Given the description of an element on the screen output the (x, y) to click on. 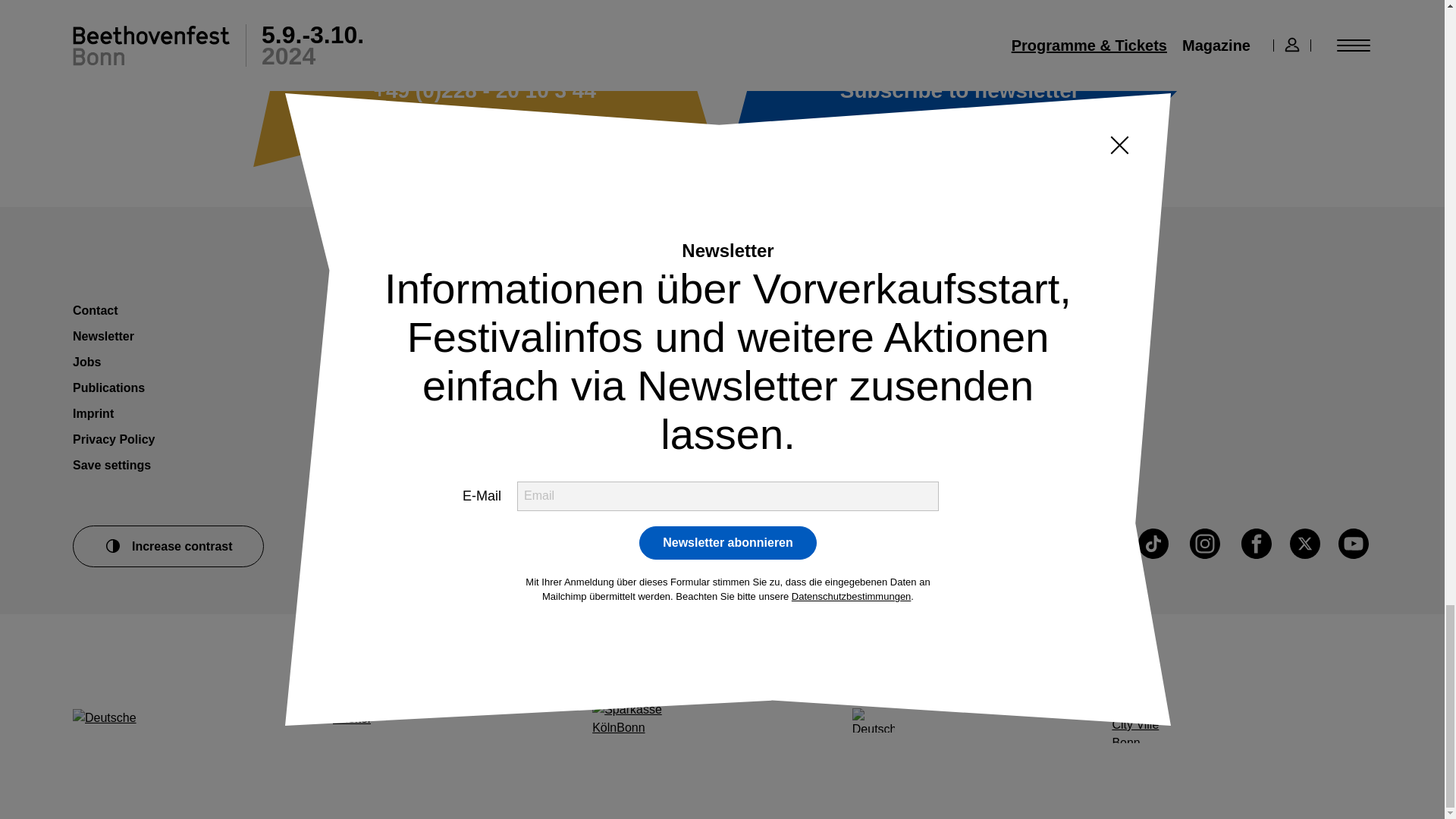
Newsletter (102, 336)
Calls for Submissions (397, 361)
Press (349, 309)
Newsletter (959, 88)
Contact (94, 309)
Imprint (92, 413)
Publications (108, 387)
Jobs (86, 361)
Team (349, 336)
